Given the description of an element on the screen output the (x, y) to click on. 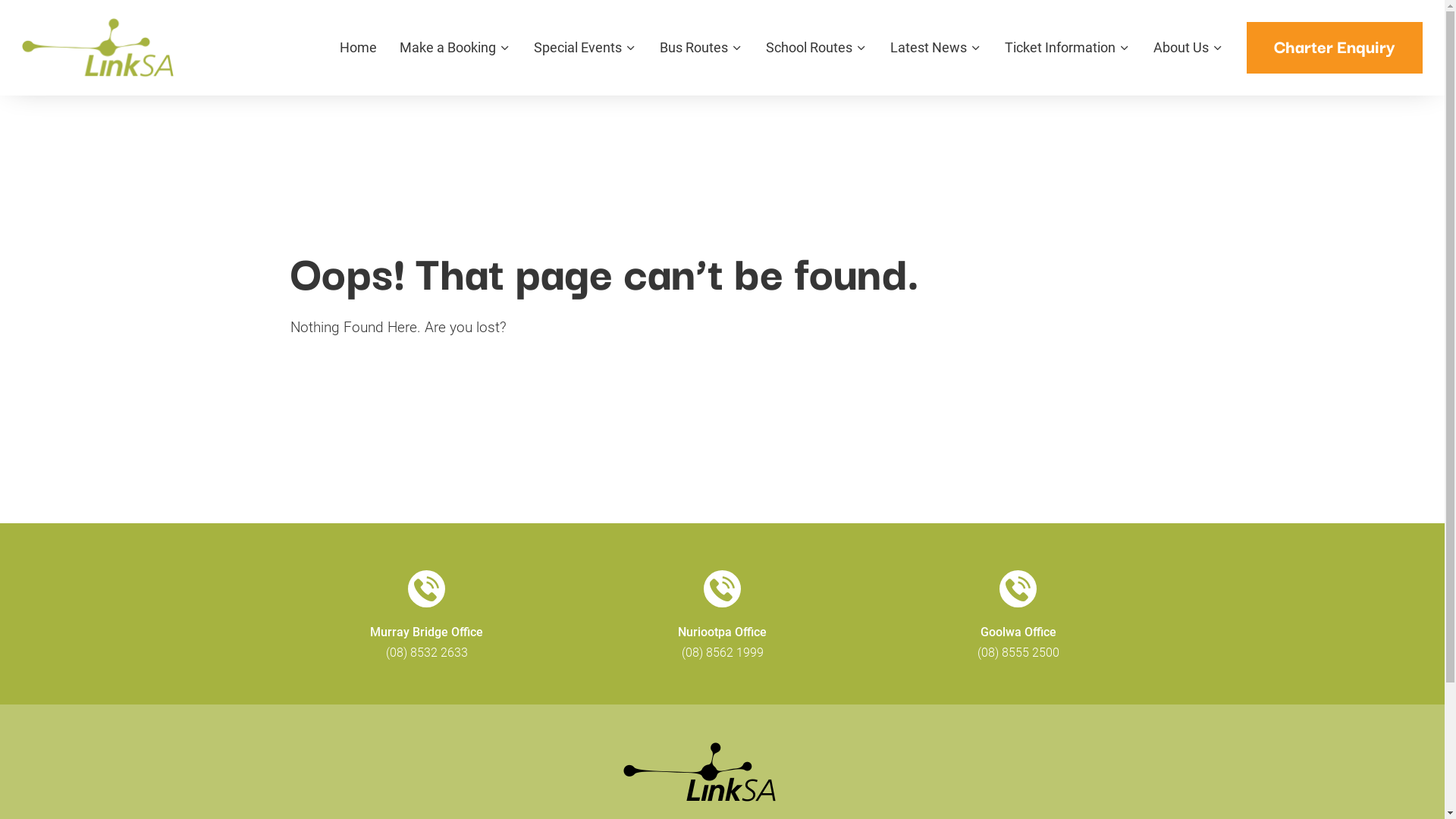
Ticket Information Element type: text (1059, 51)
Special Events Element type: text (577, 51)
School Routes Element type: text (808, 51)
Latest News Element type: text (928, 51)
Home Element type: text (357, 51)
Bus Routes Element type: text (693, 51)
About Us Element type: text (1180, 51)
Make a Booking Element type: text (447, 51)
Charter Enquiry Element type: text (1334, 47)
